Given the description of an element on the screen output the (x, y) to click on. 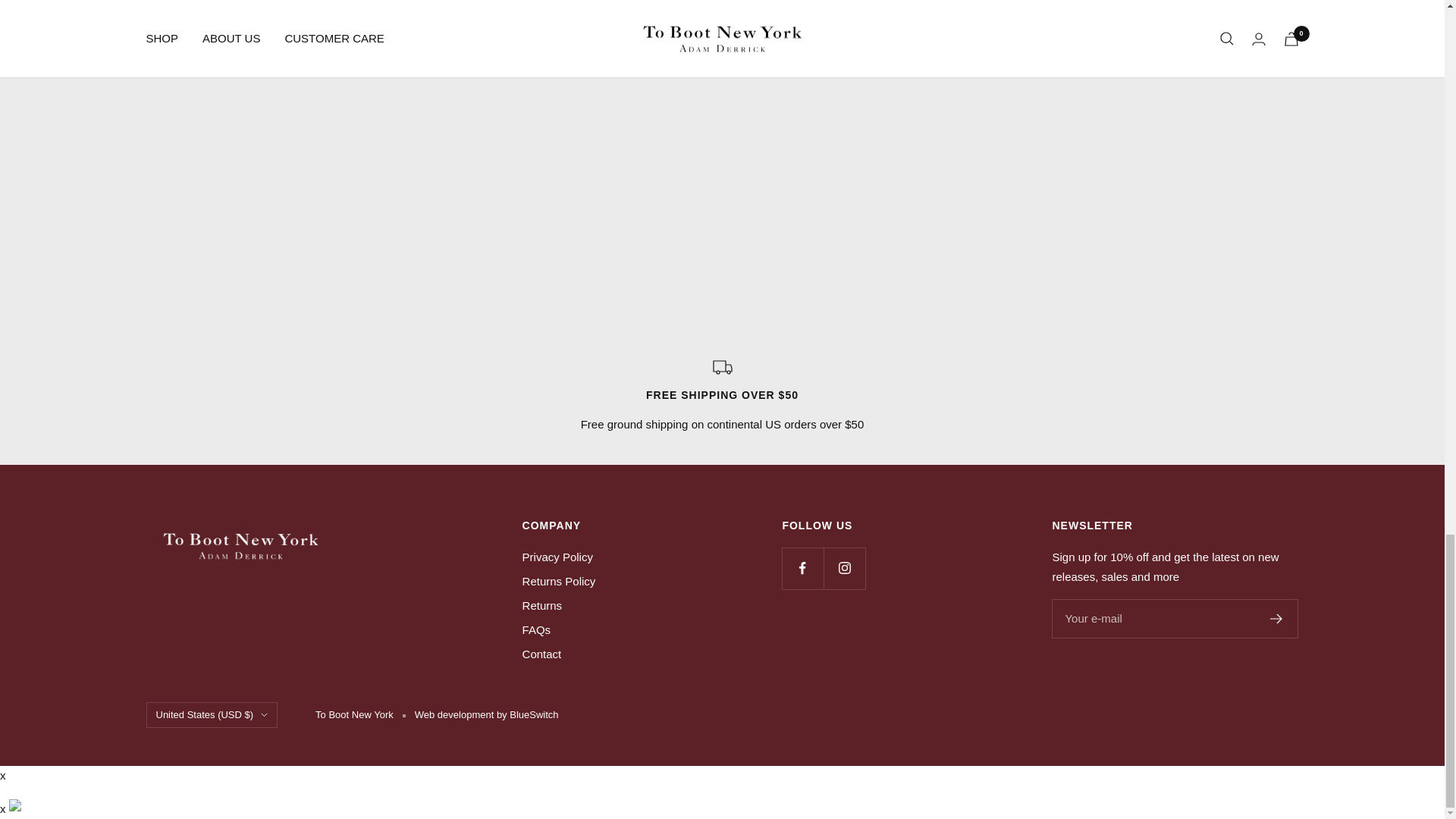
Register (1275, 618)
